Given the description of an element on the screen output the (x, y) to click on. 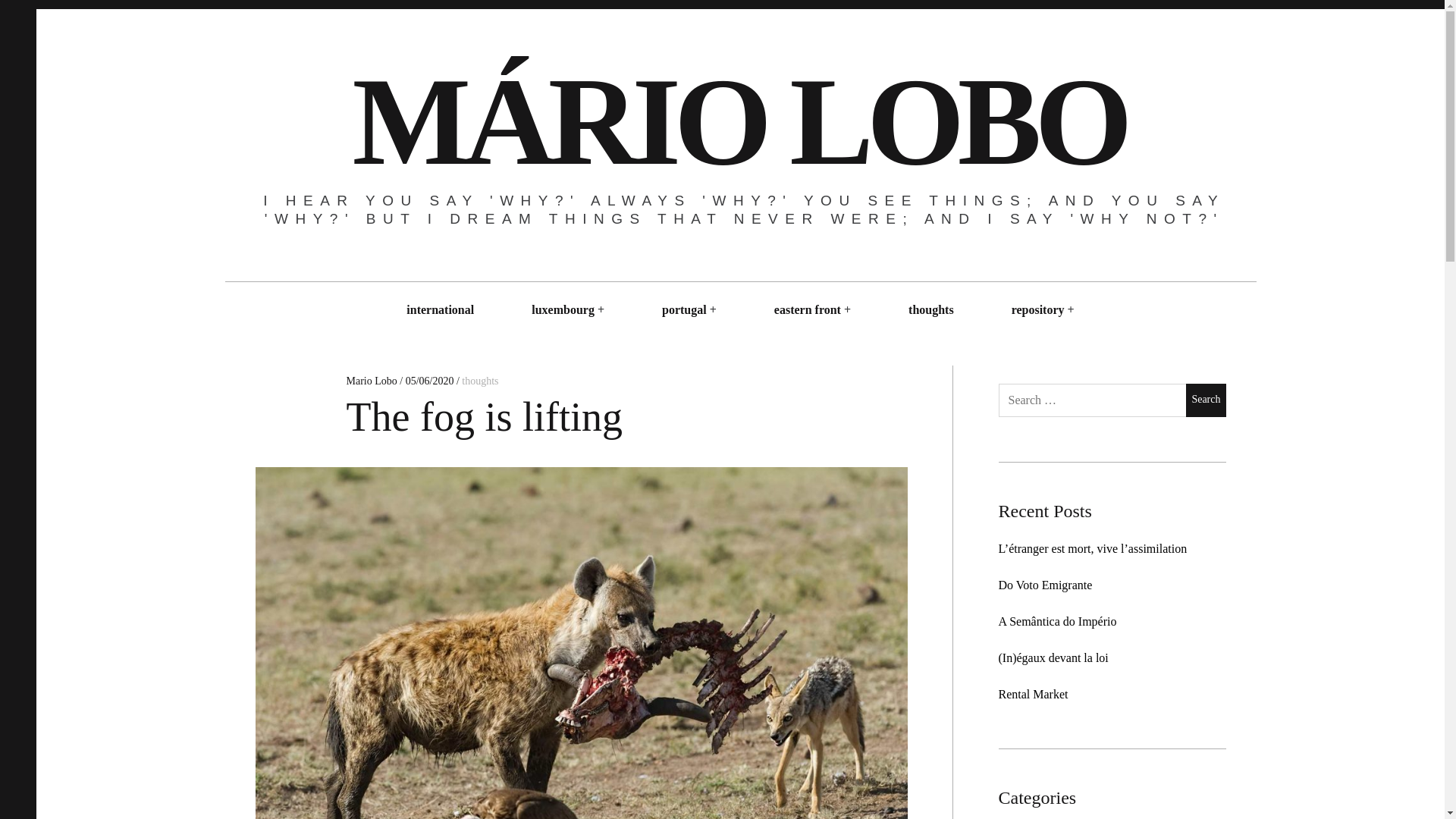
Search (1205, 400)
repository (1038, 309)
thoughts (479, 380)
eastern front (806, 309)
Mario Lobo (372, 380)
luxembourg (562, 309)
international (439, 309)
portugal (683, 309)
Do Voto Emigrante (1044, 584)
Search (1205, 400)
Search (1205, 400)
thoughts (930, 309)
Rental Market (1032, 694)
